Given the description of an element on the screen output the (x, y) to click on. 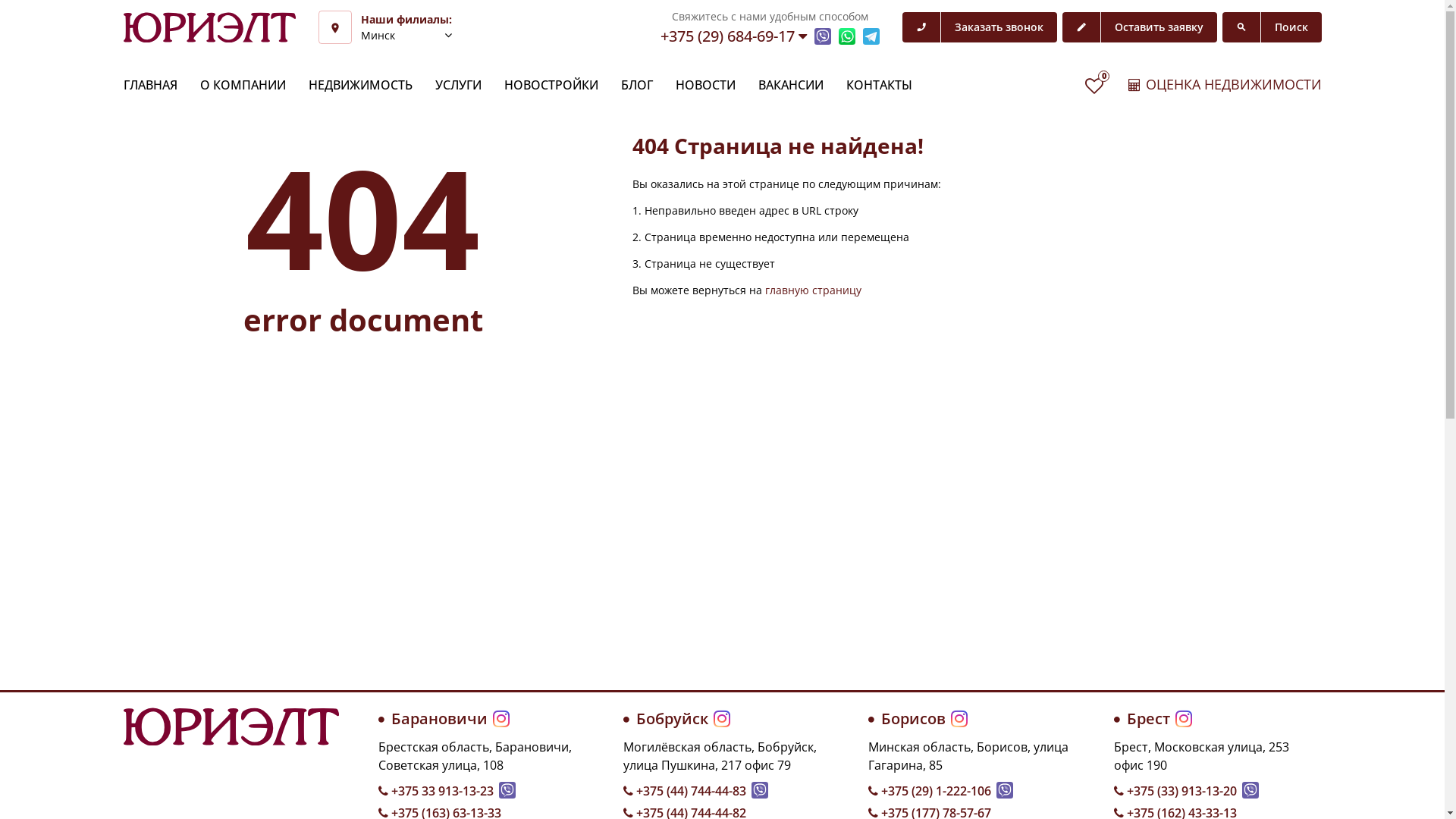
+375 (33) 913-13-20 Element type: text (1174, 790)
0 Element type: text (1094, 85)
+375 (29) 684-69-17 Element type: text (732, 36)
+375 (29) 1-222-106 Element type: text (929, 790)
+375 (44) 744-44-83 Element type: text (684, 790)
+375 33 913-13-23 Element type: text (434, 790)
